Given the description of an element on the screen output the (x, y) to click on. 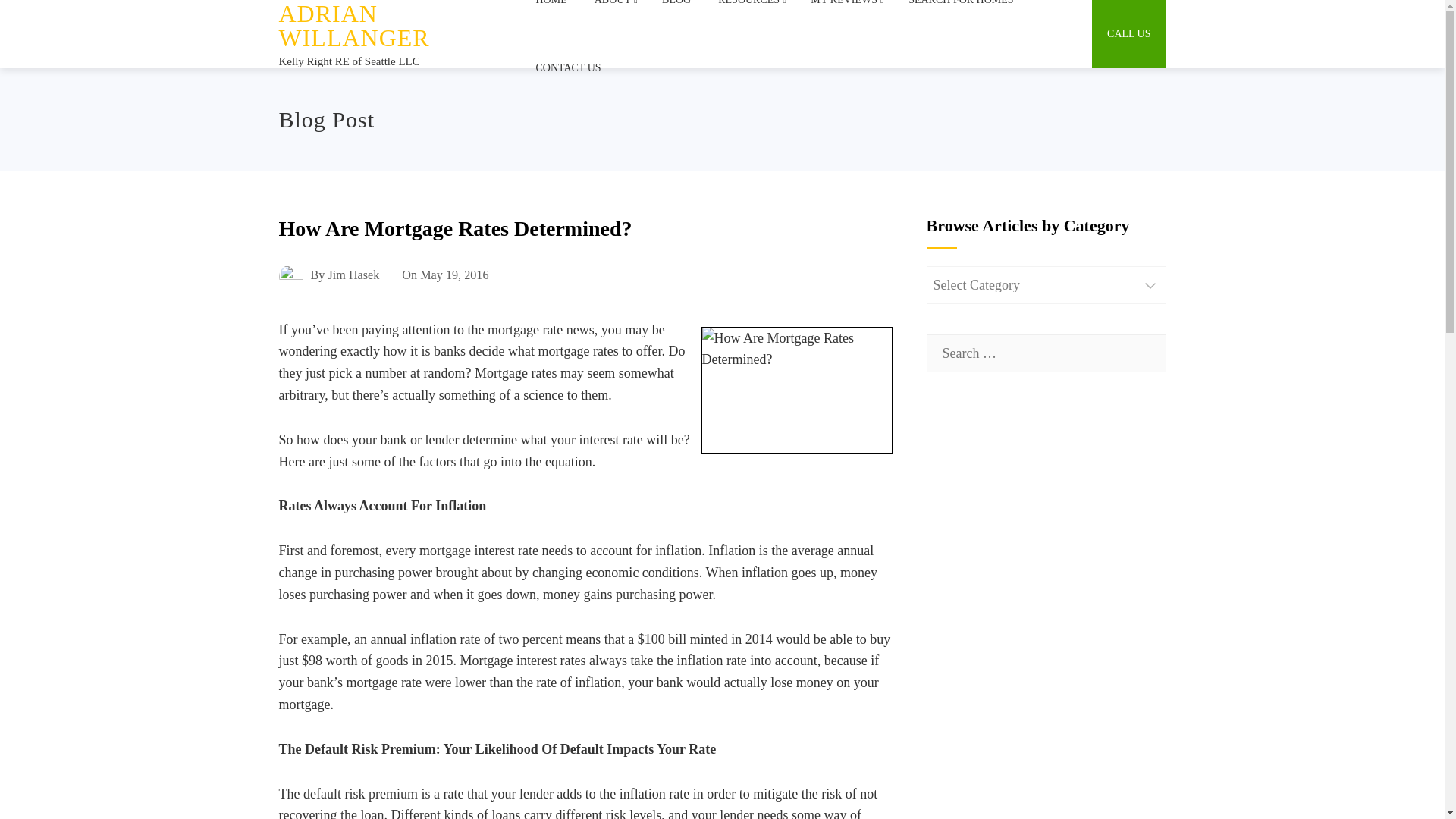
CALL US (1129, 33)
ABOUT (614, 17)
SEARCH FOR HOMES (960, 17)
Kelly Right RE of Seattle LLC (349, 60)
How Are Mortgage Rates Determined? (795, 390)
HOME (551, 17)
BLOG (675, 17)
MY REVIEWS (845, 17)
RESOURCES (750, 17)
CONTACT US (567, 68)
